Given the description of an element on the screen output the (x, y) to click on. 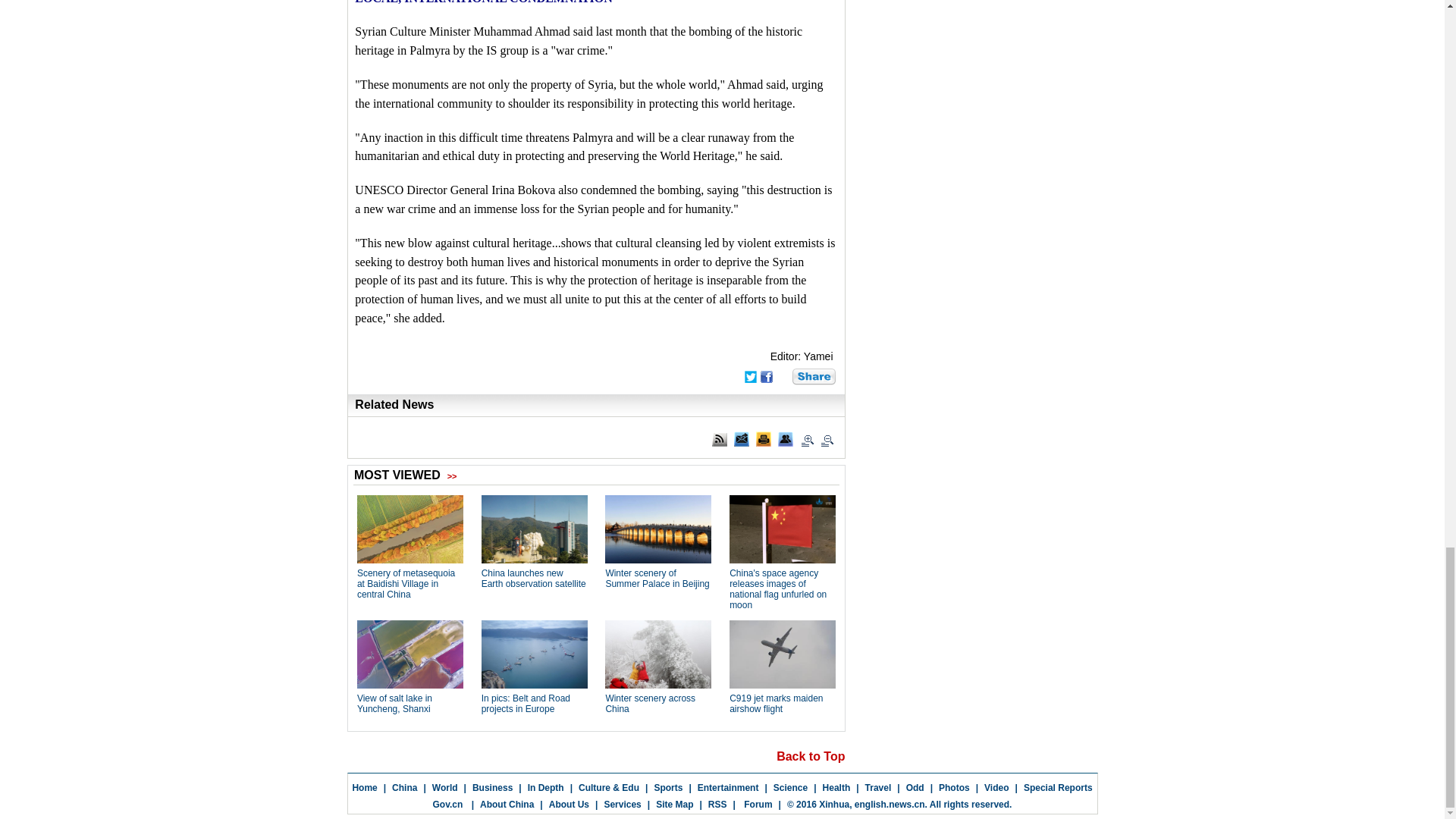
More (813, 376)
